Given the description of an element on the screen output the (x, y) to click on. 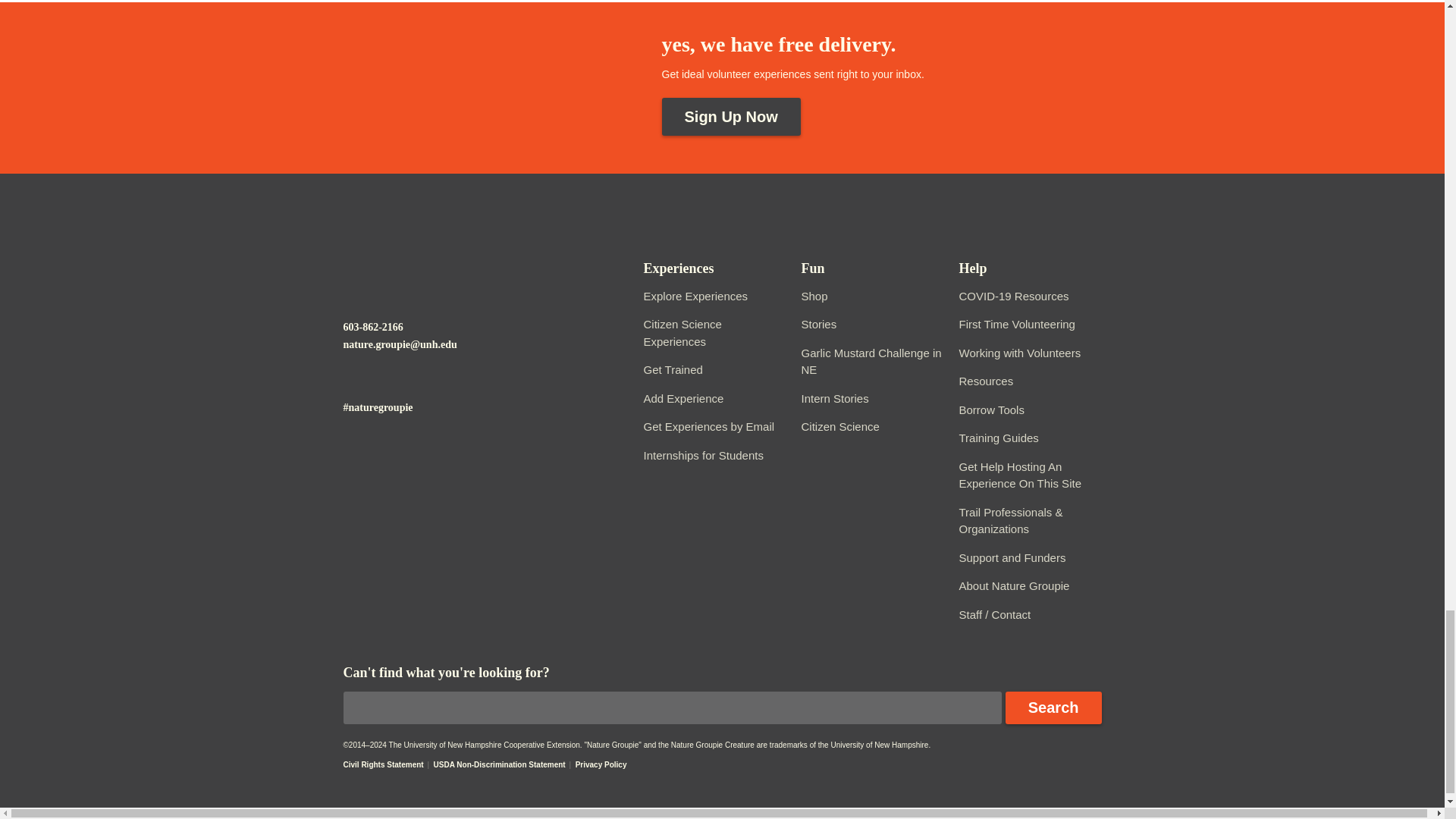
Resources for working with volunteers (1019, 352)
Learn ways you can do science! (839, 426)
Search (1054, 707)
Resources for volunteering outdoors during COVID-19 pandemic (1013, 295)
Shop for Nature Groupie Gear! (813, 295)
Enter the terms you wish to search for. (671, 707)
Stewardship Tool Libraries (990, 409)
Explore Citizen Science Experiences (681, 332)
Join a Pull! (870, 361)
